Given the description of an element on the screen output the (x, y) to click on. 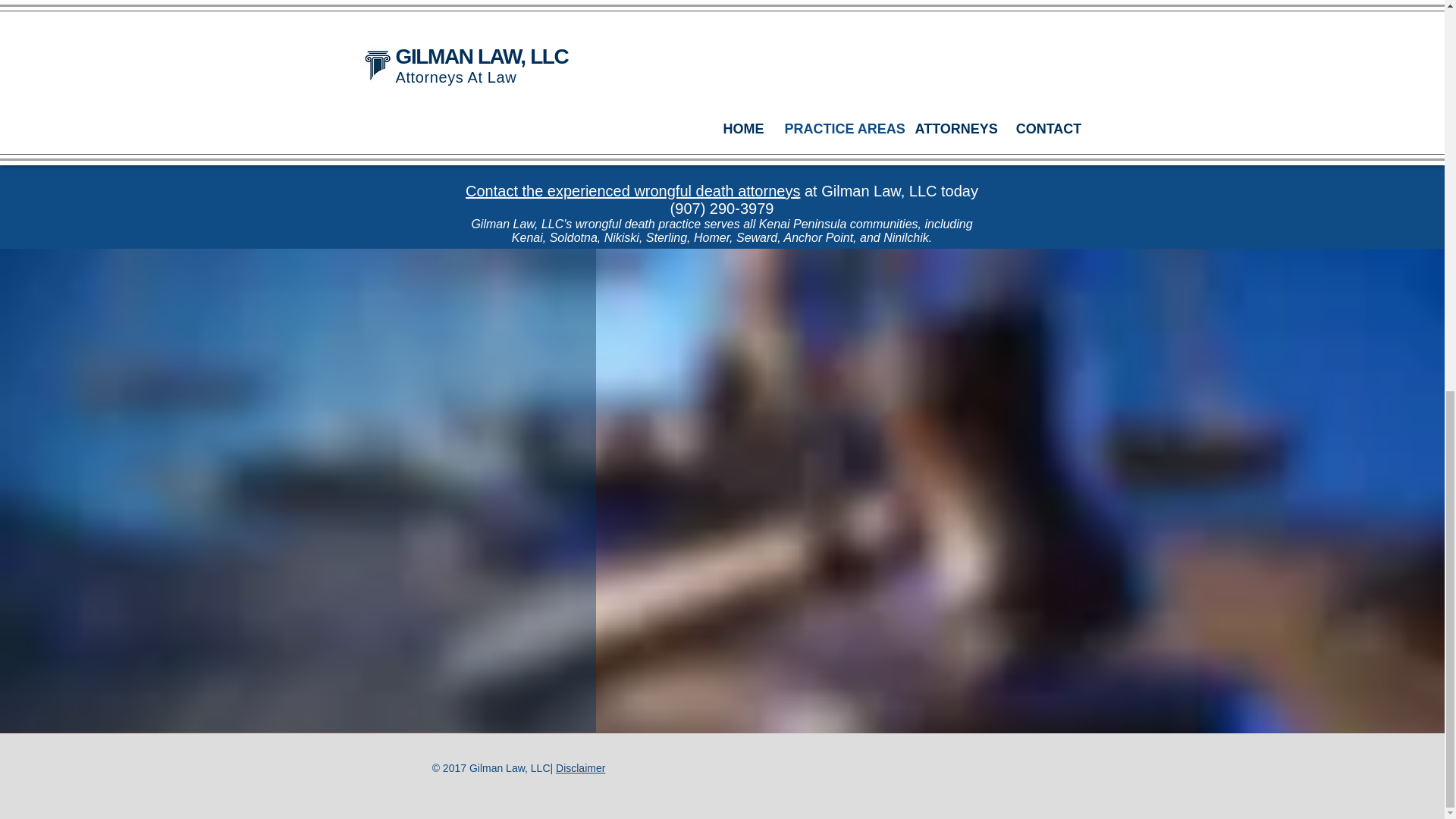
Contact the experienced wrongful death attorneys (632, 190)
Disclaimer (580, 767)
